Given the description of an element on the screen output the (x, y) to click on. 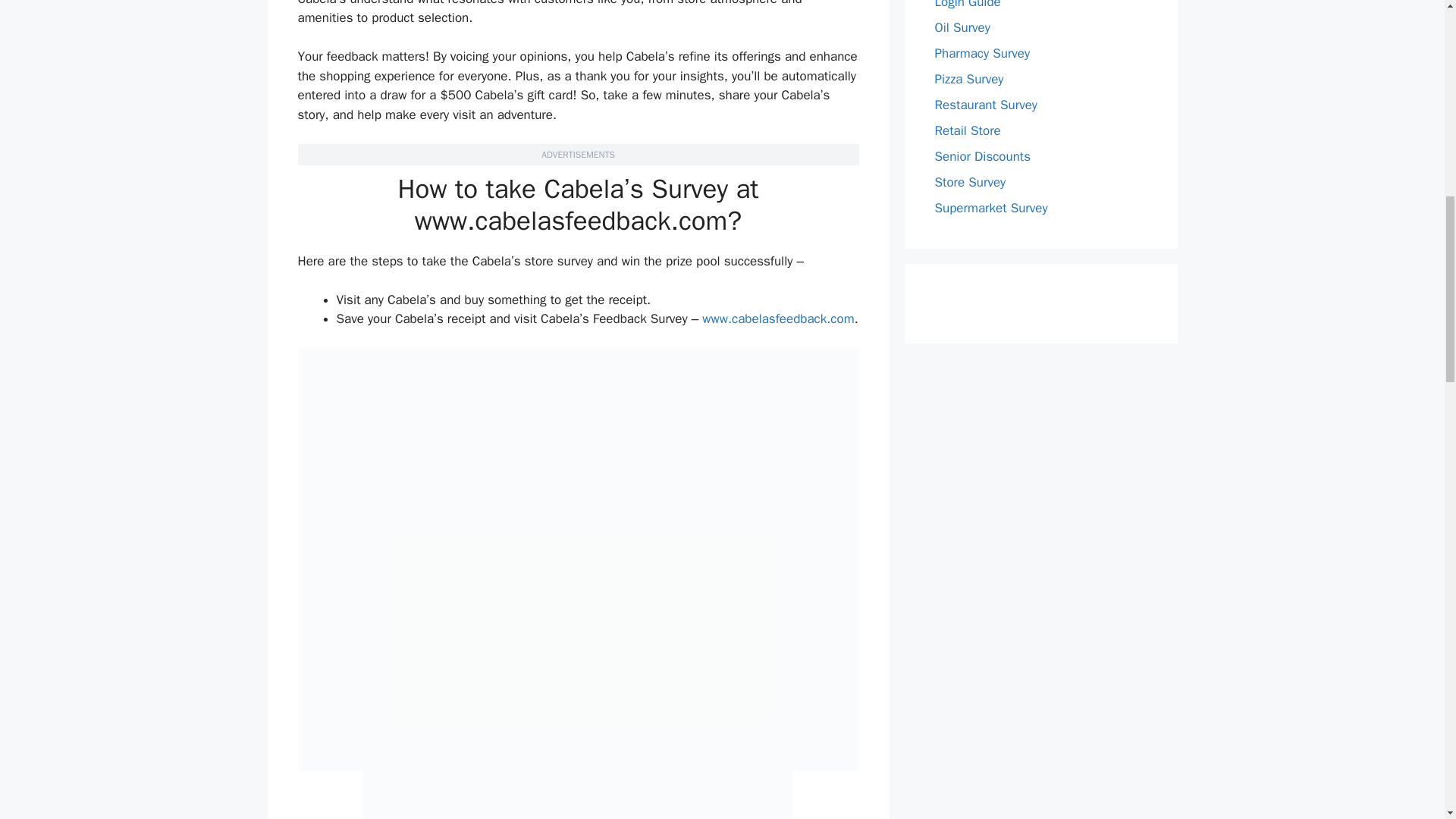
www.cabelasfeedback.com (777, 318)
ADVERTISEMENTS (577, 154)
